Given the description of an element on the screen output the (x, y) to click on. 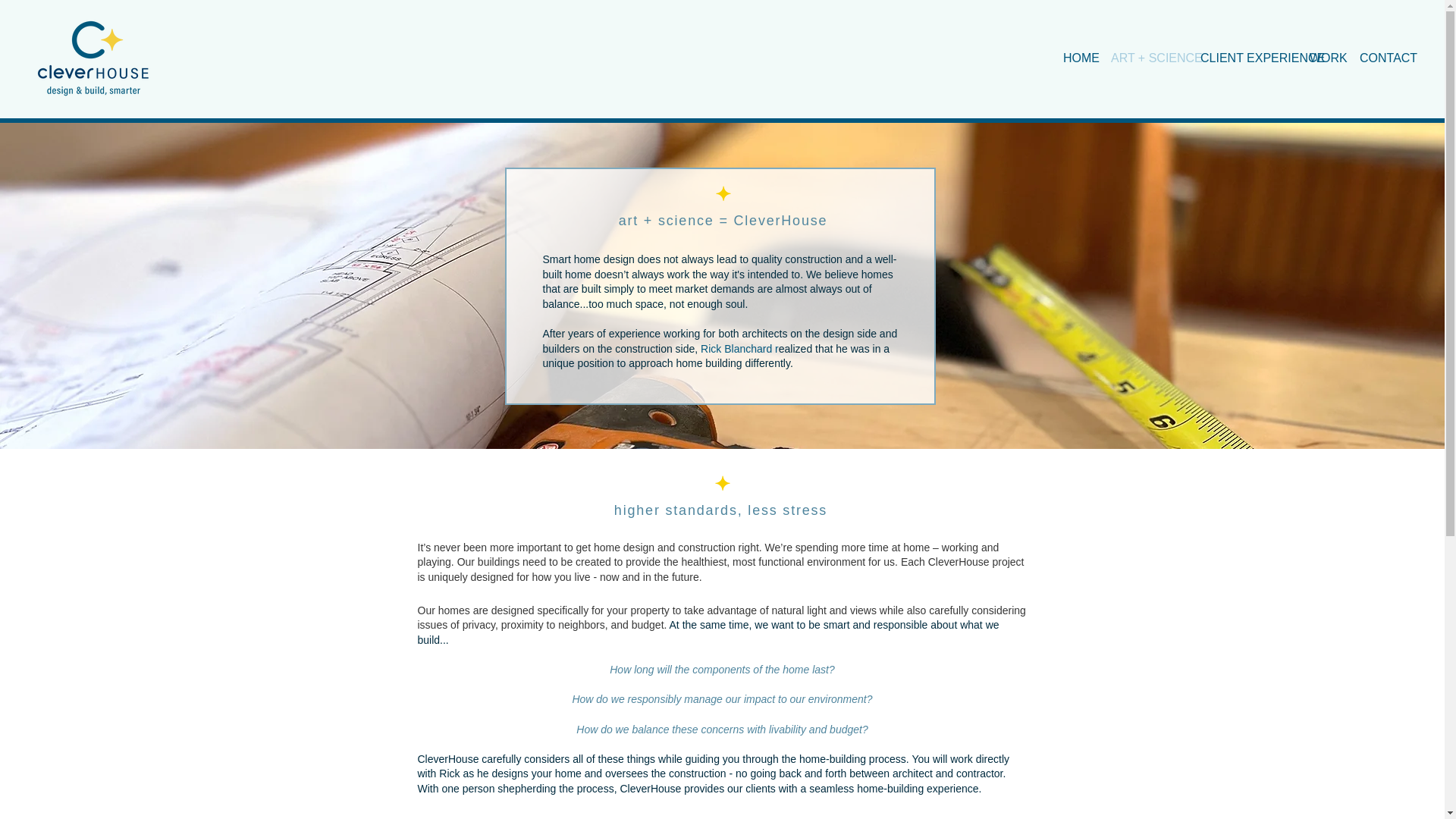
Rick Blanchard (735, 348)
CLIENT EXPERIENCE (1243, 57)
WORK (1323, 57)
CONTACT (1379, 57)
HOME (1075, 57)
